Given the description of an element on the screen output the (x, y) to click on. 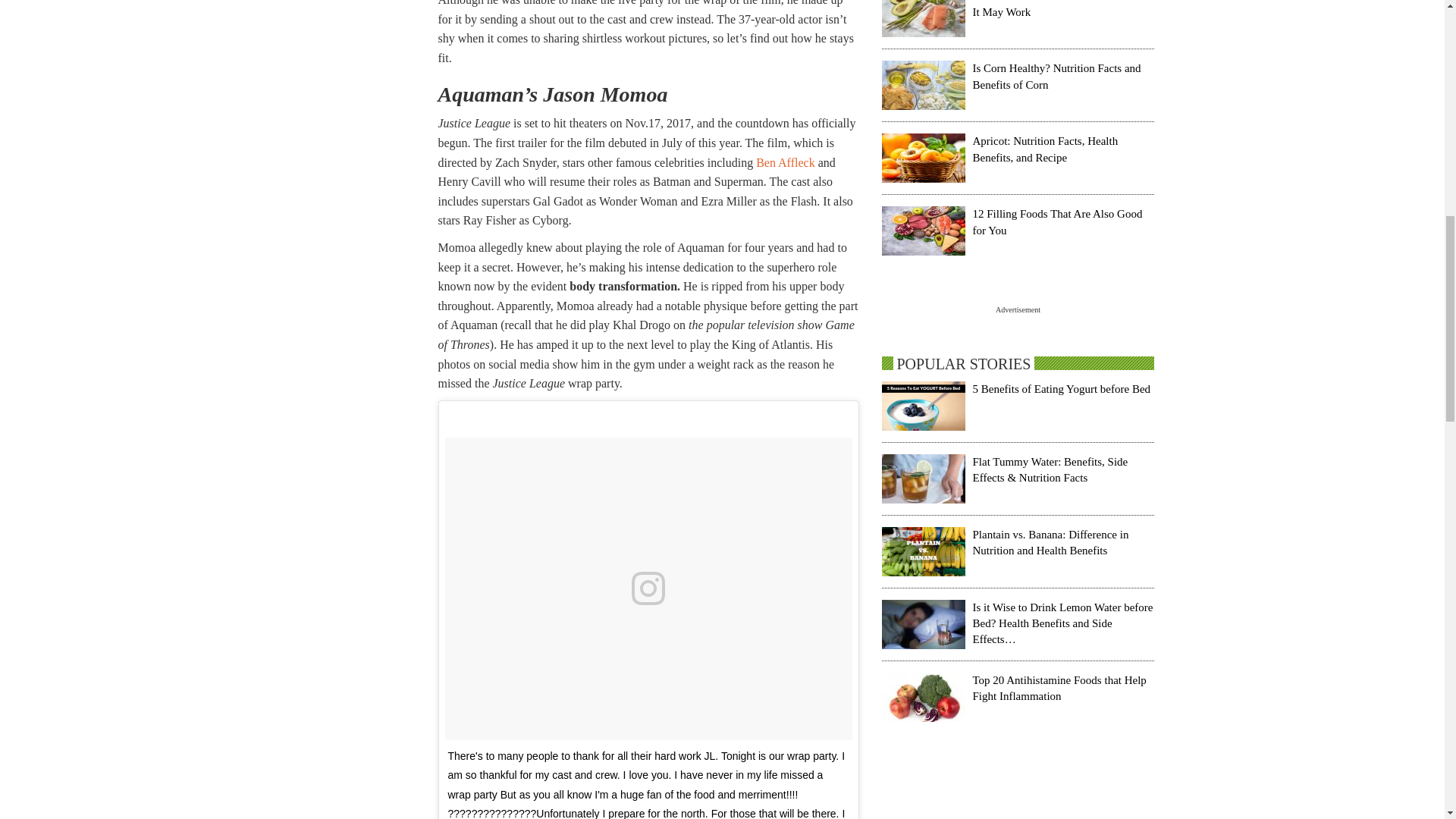
Ben Affleck (784, 162)
Advertisement (1017, 795)
